Given the description of an element on the screen output the (x, y) to click on. 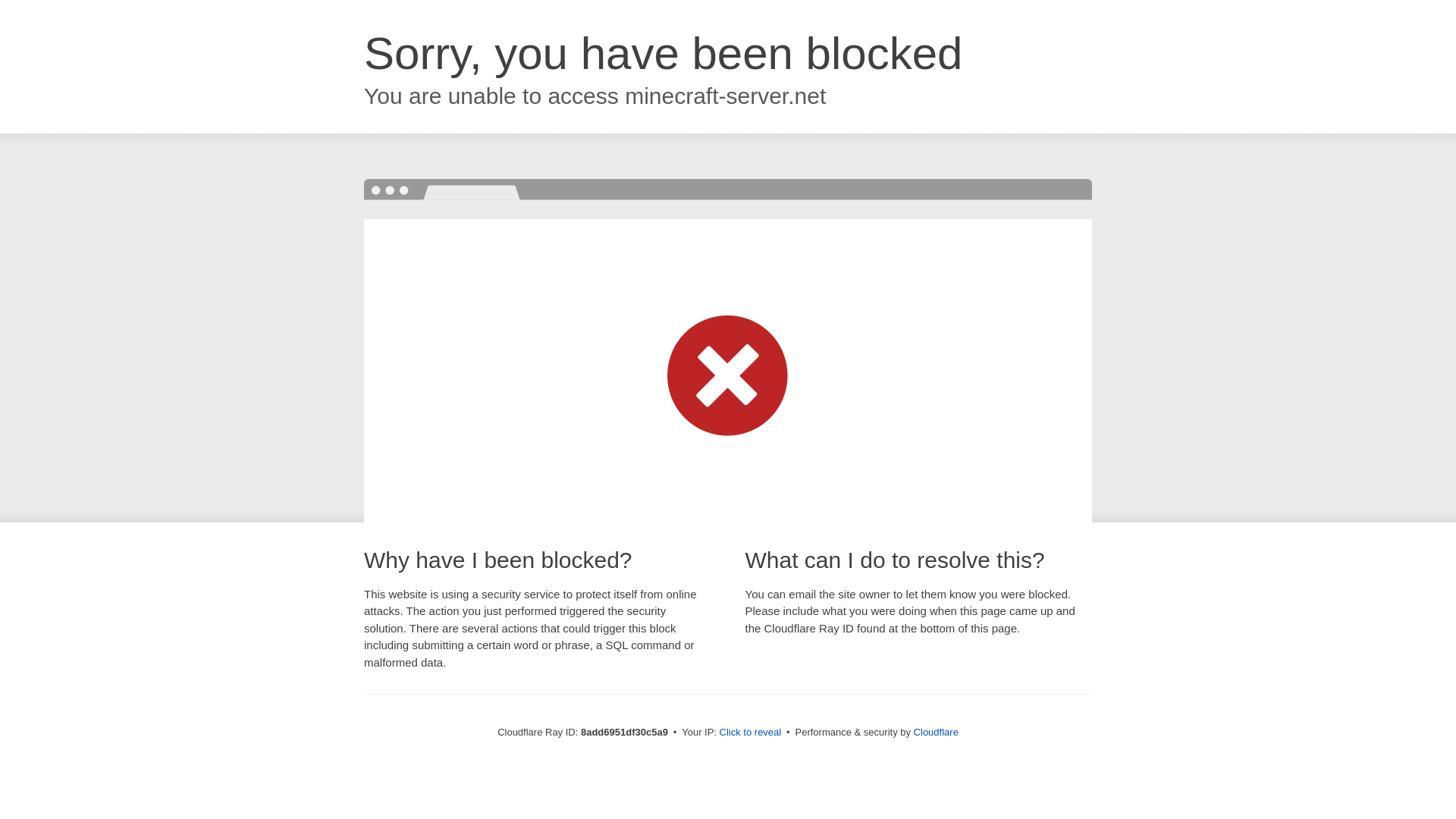
Click to reveal (750, 732)
Cloudflare (936, 731)
